Given the description of an element on the screen output the (x, y) to click on. 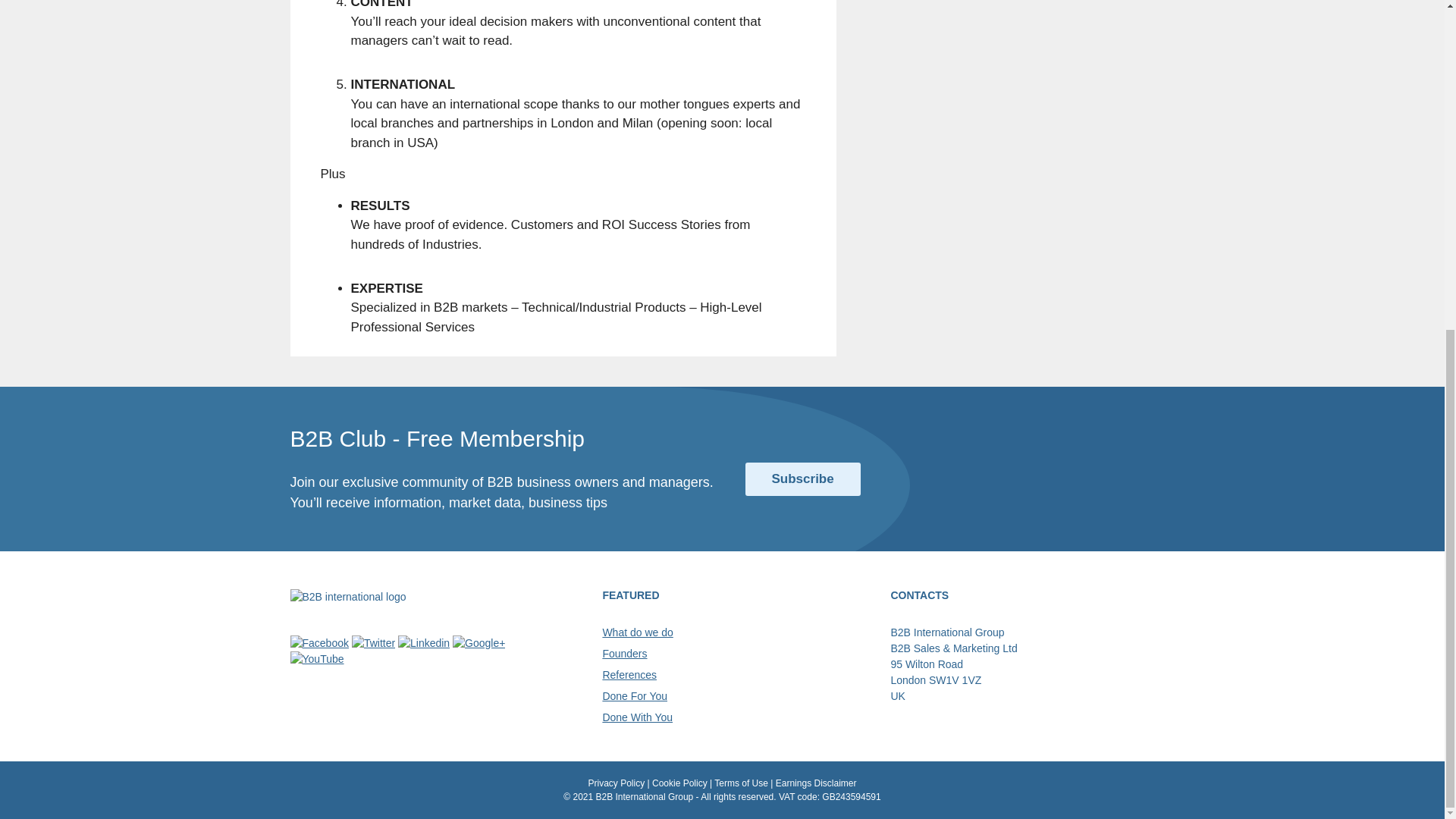
Done With You (637, 717)
Privacy Policy (616, 783)
Linkedin (423, 643)
Earnings Disclaimer (816, 783)
Facebook (318, 643)
Terms of Use (741, 783)
Founders (624, 653)
Cookie Policy (679, 783)
Twitter (373, 643)
Done For You (634, 695)
